Given the description of an element on the screen output the (x, y) to click on. 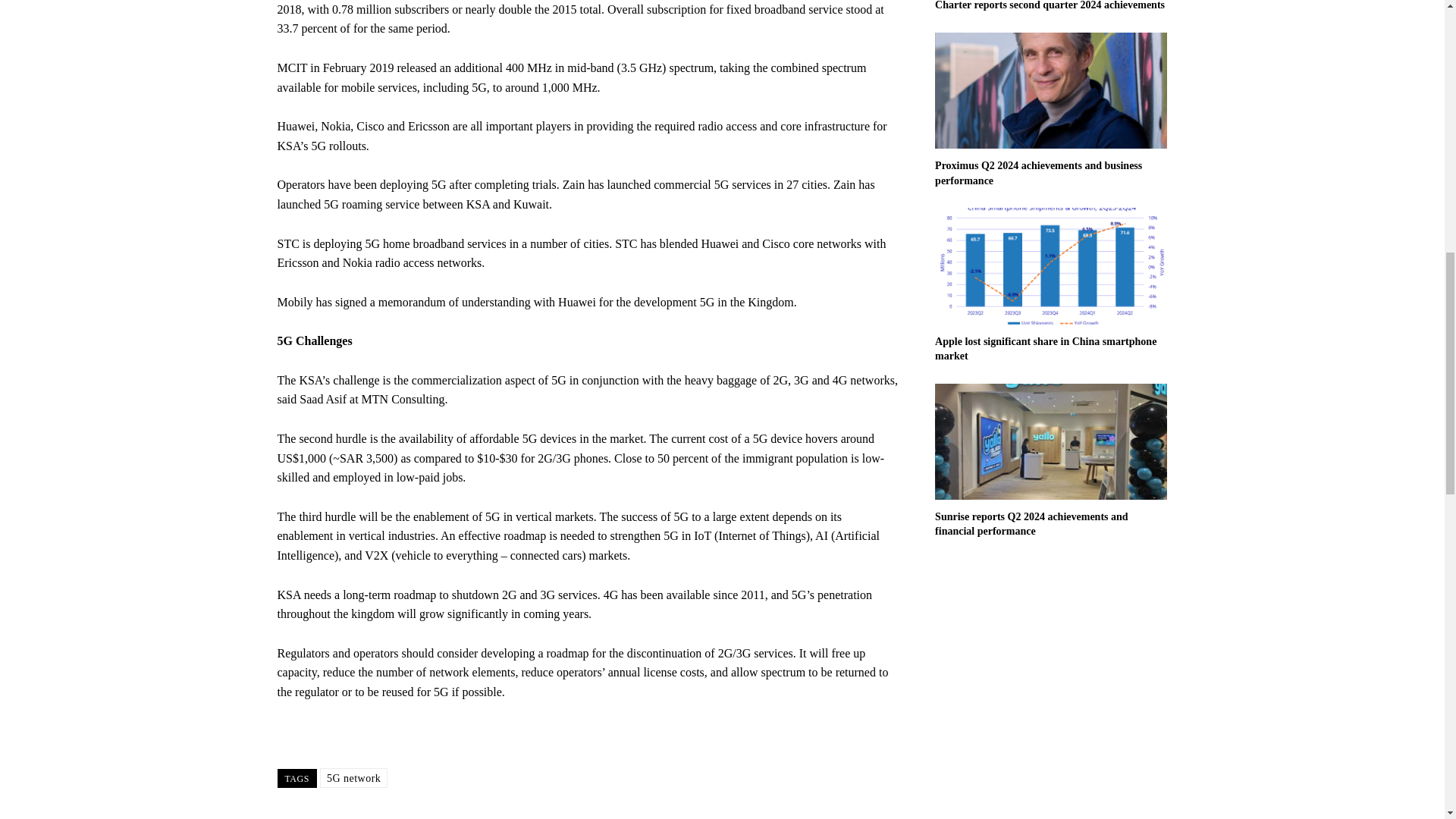
Proximus Q2 2024 achievements and business performance (1037, 172)
Apple lost significant share in China smartphone market (1045, 348)
Proximus Q2 2024 achievements and business performance (1037, 172)
Charter reports second quarter 2024 achievements (1049, 5)
Apple lost significant share in China smartphone market (1050, 265)
Proximus Q2 2024 achievements and business performance (1050, 90)
5G network (354, 777)
Apple lost significant share in China smartphone market (1045, 348)
Charter reports second quarter 2024 achievements (1049, 5)
